Given the description of an element on the screen output the (x, y) to click on. 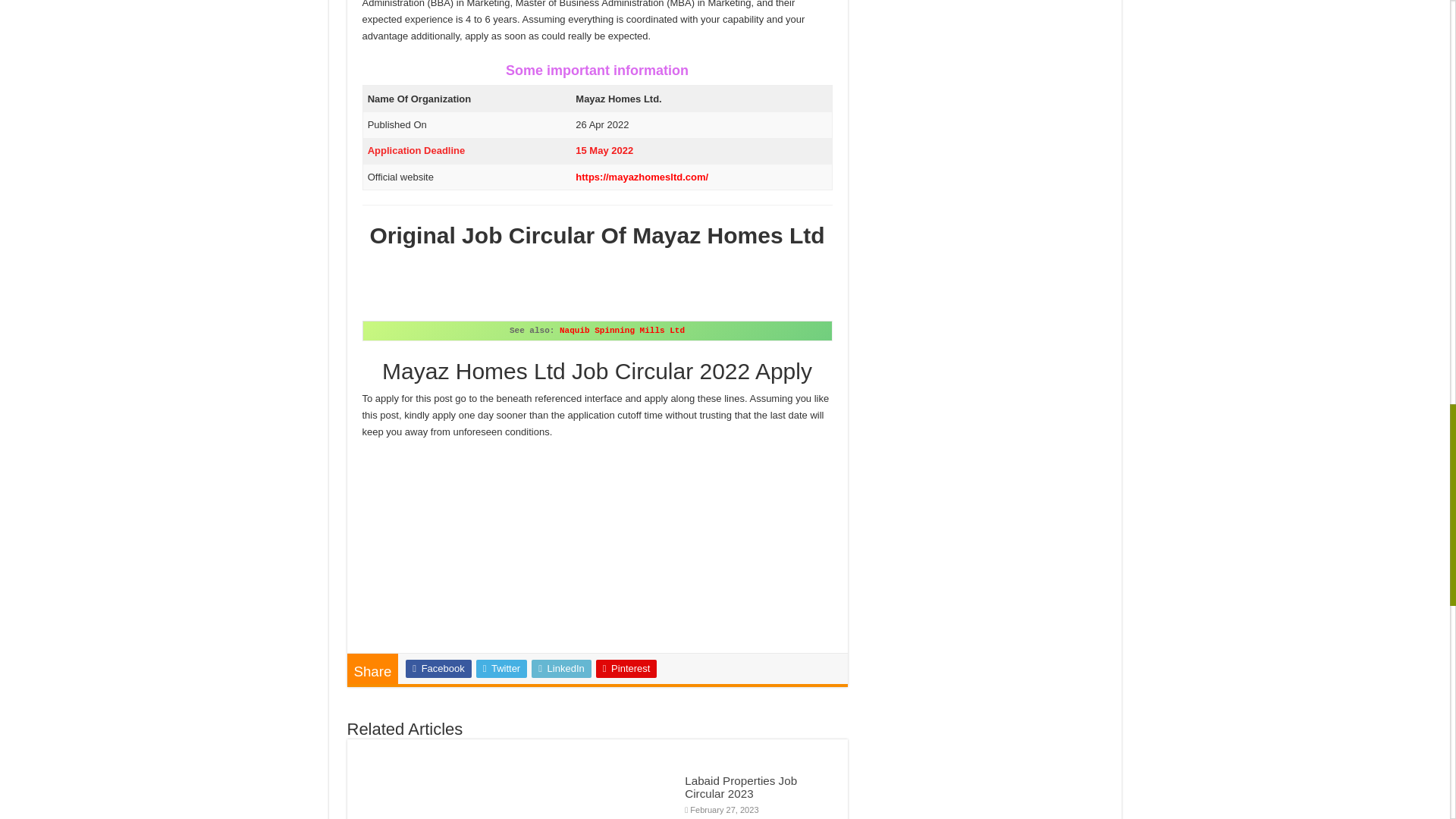
Pinterest (626, 669)
Twitter (501, 669)
LinkedIn (561, 669)
Facebook (438, 669)
Naquib Spinning Mills Ltd (621, 329)
